Given the description of an element on the screen output the (x, y) to click on. 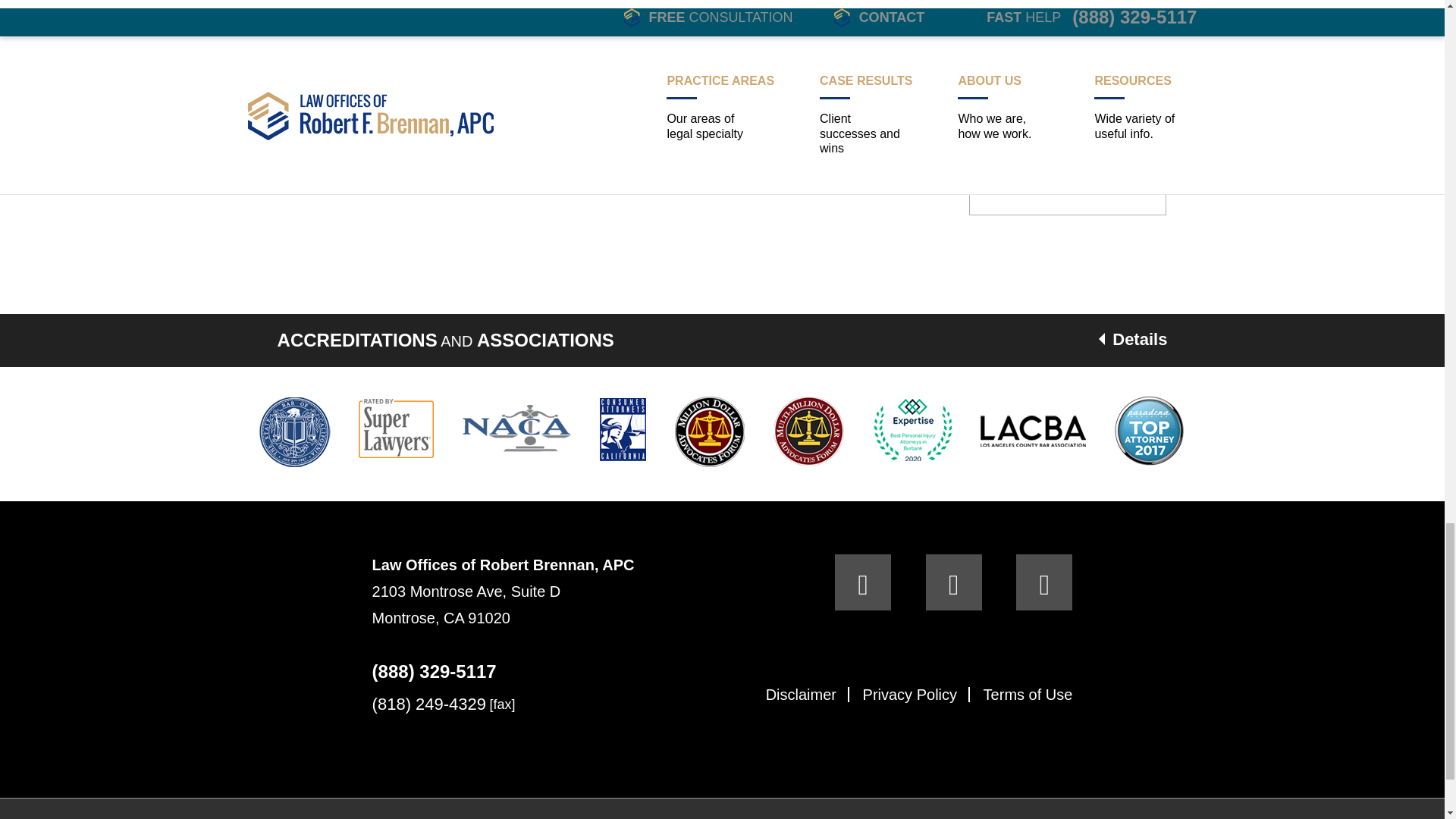
Instagram (1043, 582)
LinkedIn (953, 582)
Facebook (862, 582)
